Given the description of an element on the screen output the (x, y) to click on. 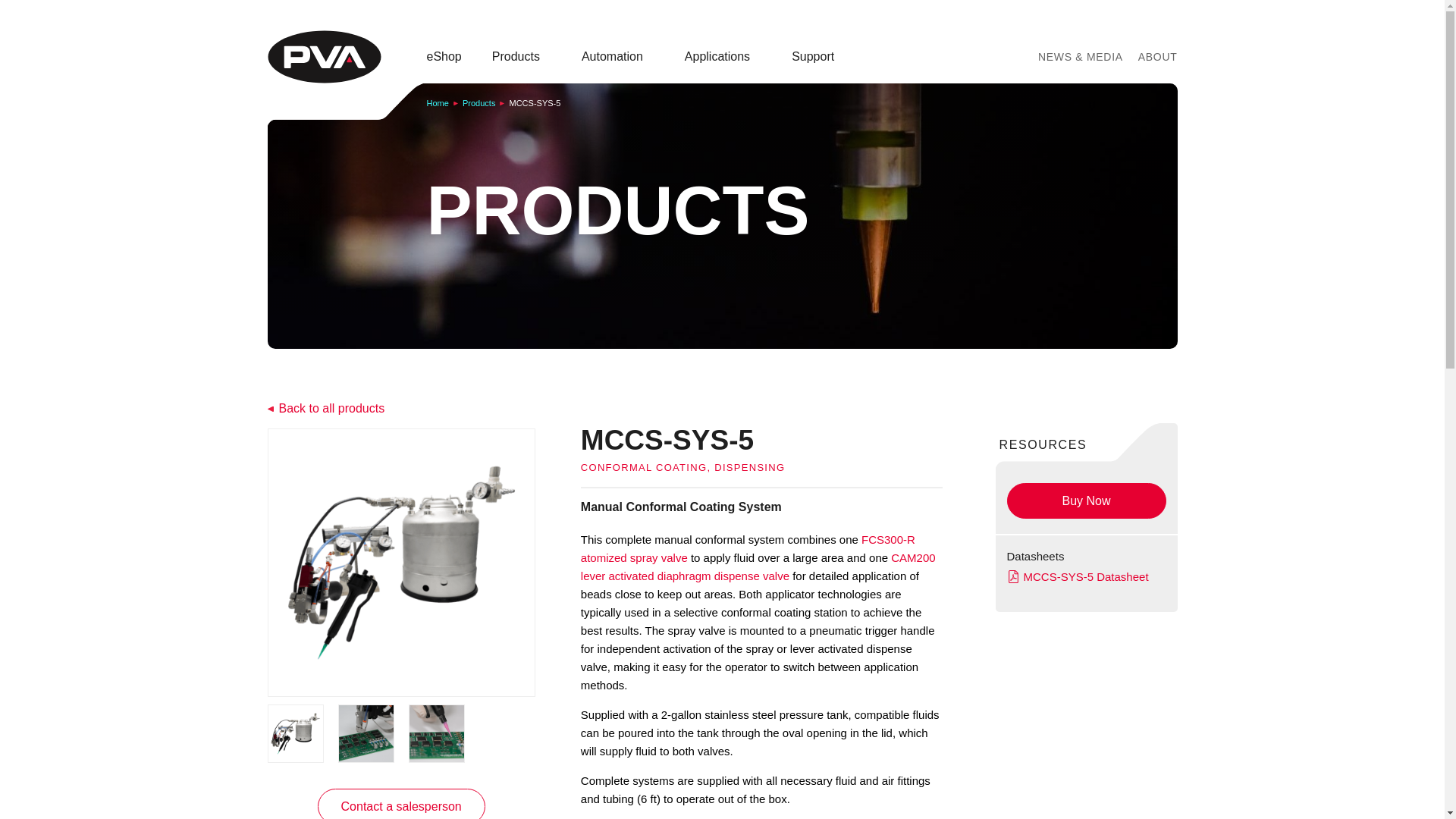
Automation (616, 56)
MCCS-SYS-5 (1083, 576)
Support (818, 56)
eShop (443, 56)
Applications (722, 56)
Products (521, 56)
